Given the description of an element on the screen output the (x, y) to click on. 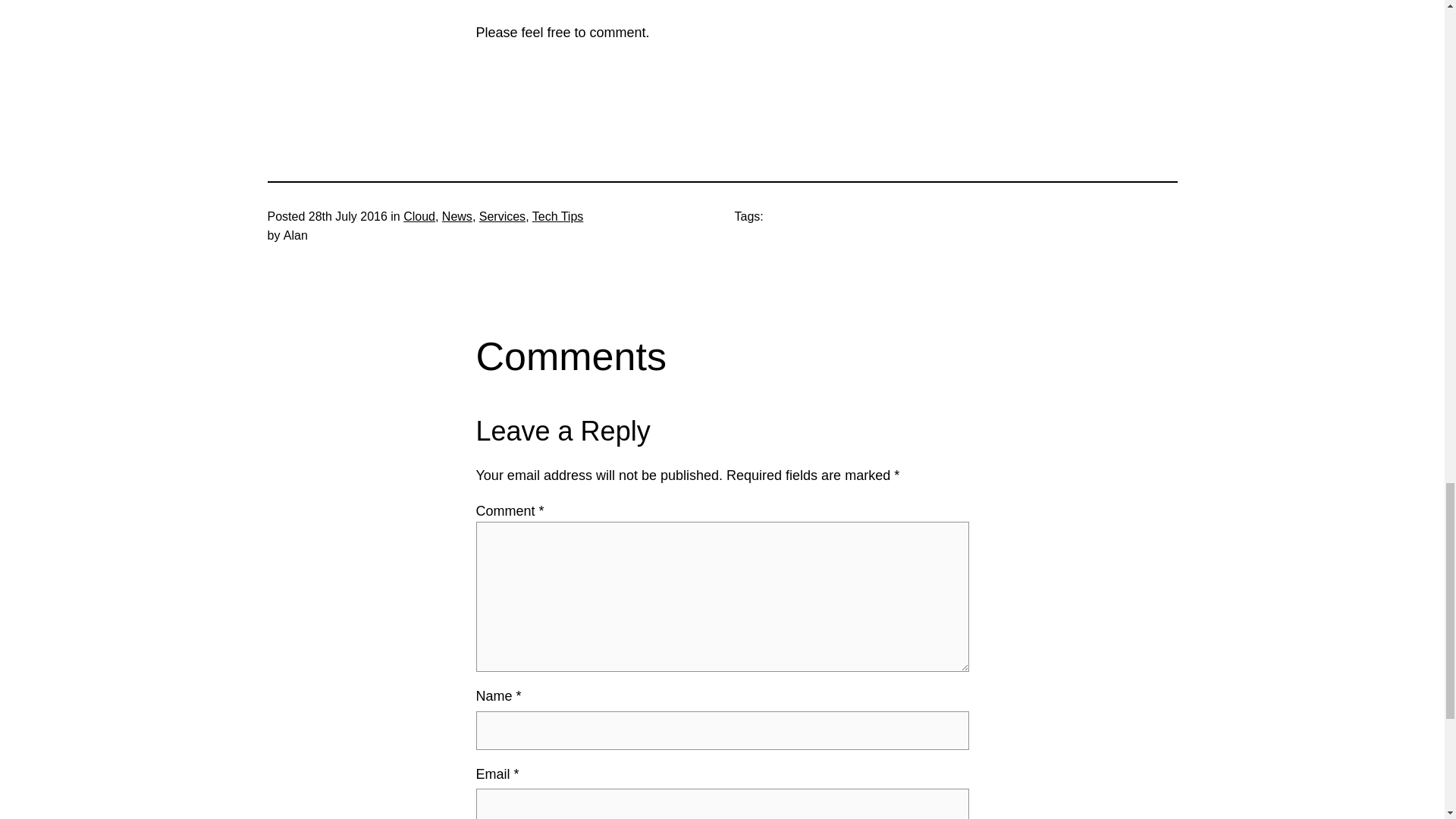
Tech Tips (557, 215)
News (456, 215)
Cloud (419, 215)
Services (502, 215)
